Given the description of an element on the screen output the (x, y) to click on. 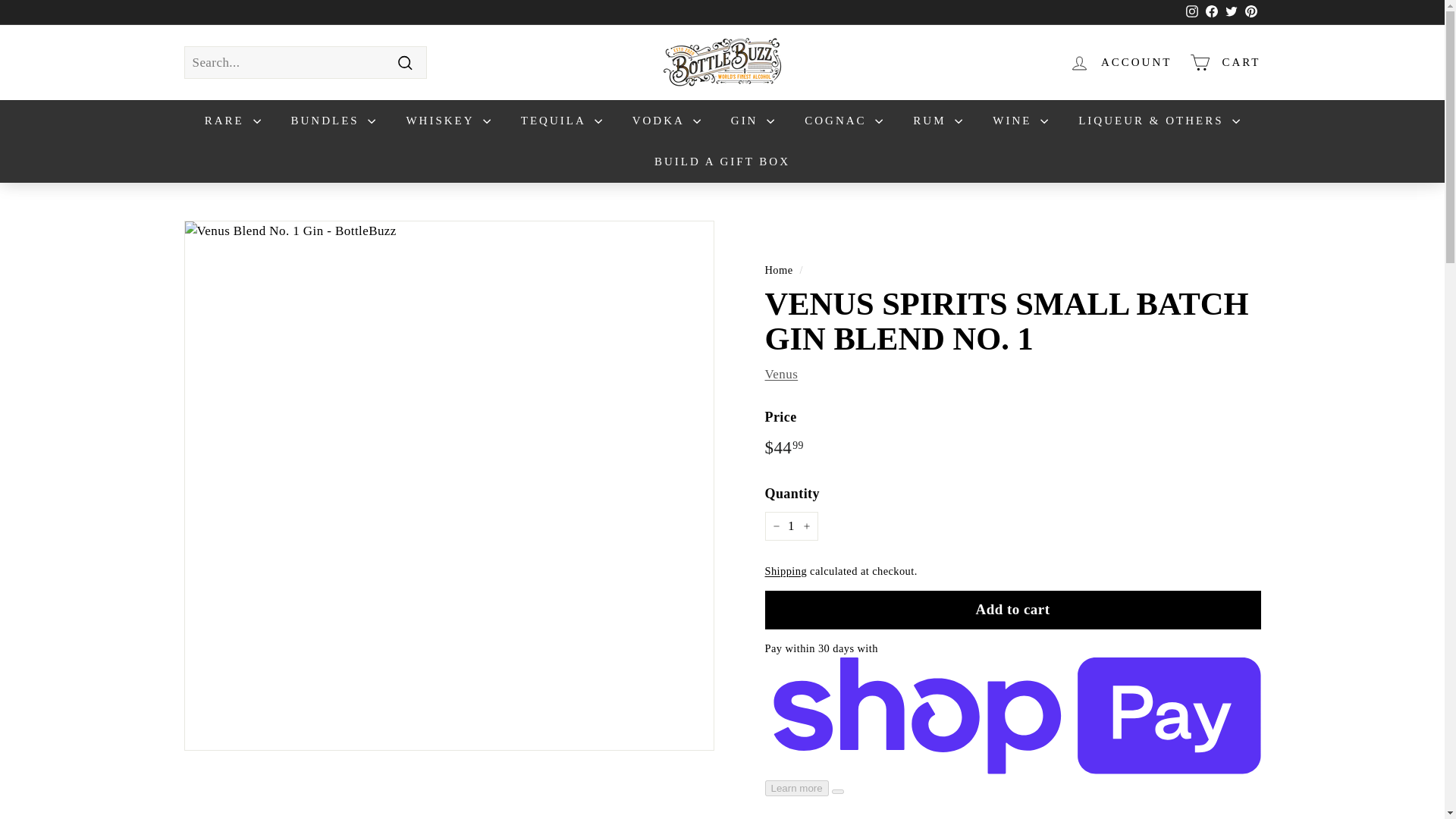
twitter (1231, 10)
BottleBuzz on Twitter (1230, 12)
BottleBuzz on Pinterest (1190, 12)
instagram (1250, 12)
Back to the frontpage (1192, 10)
1 (778, 269)
Facebook (790, 525)
Pinterest (1211, 12)
BottleBuzz on Facebook (1250, 12)
BottleBuzz on Instagram (1211, 12)
CART (1190, 12)
ACCOUNT (1230, 12)
